Given the description of an element on the screen output the (x, y) to click on. 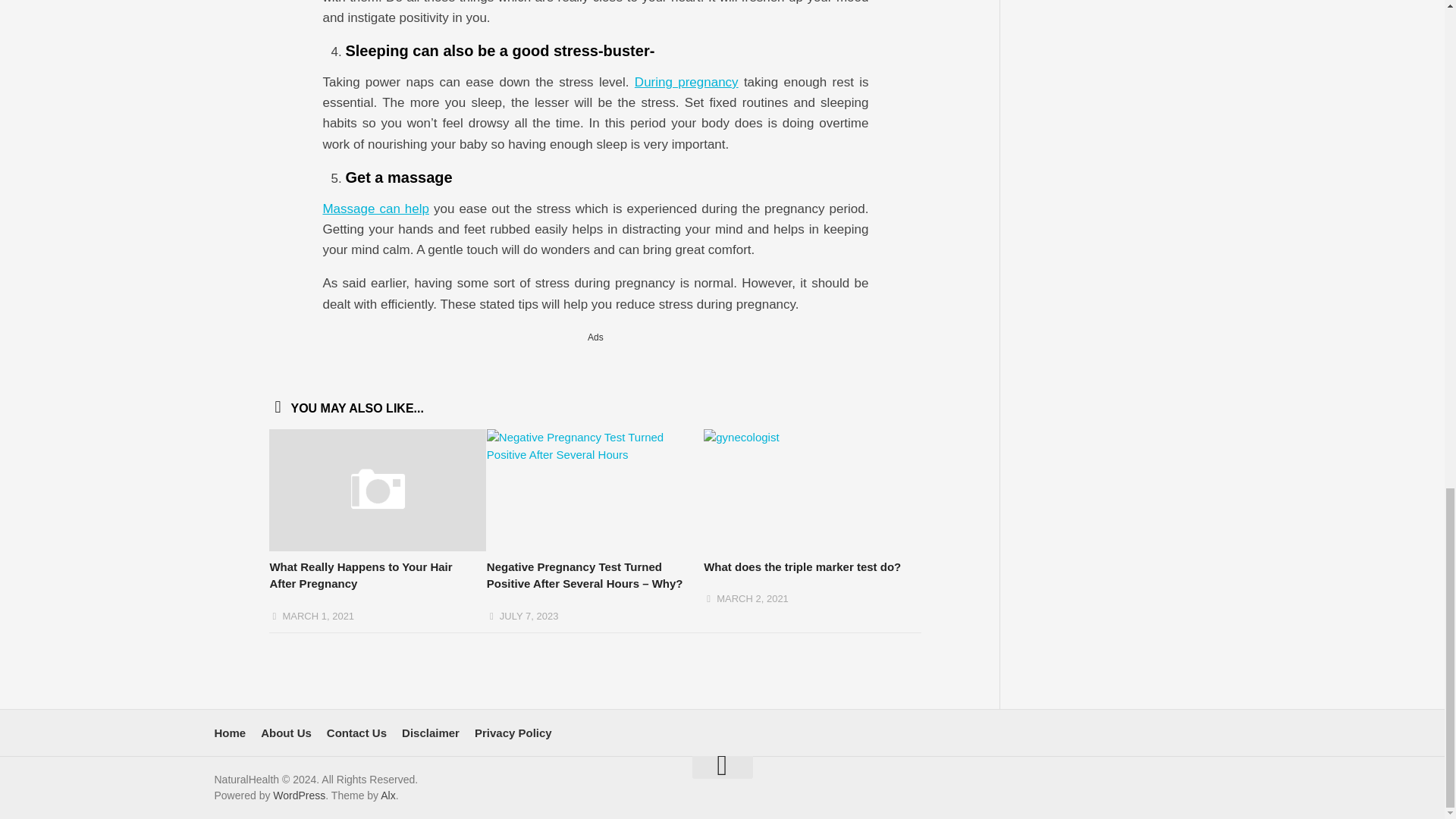
What Really Happens to Your Hair After Pregnancy (360, 575)
What does the triple marker test do? (802, 566)
During pregnancy (686, 82)
Massage can help (375, 208)
